Given the description of an element on the screen output the (x, y) to click on. 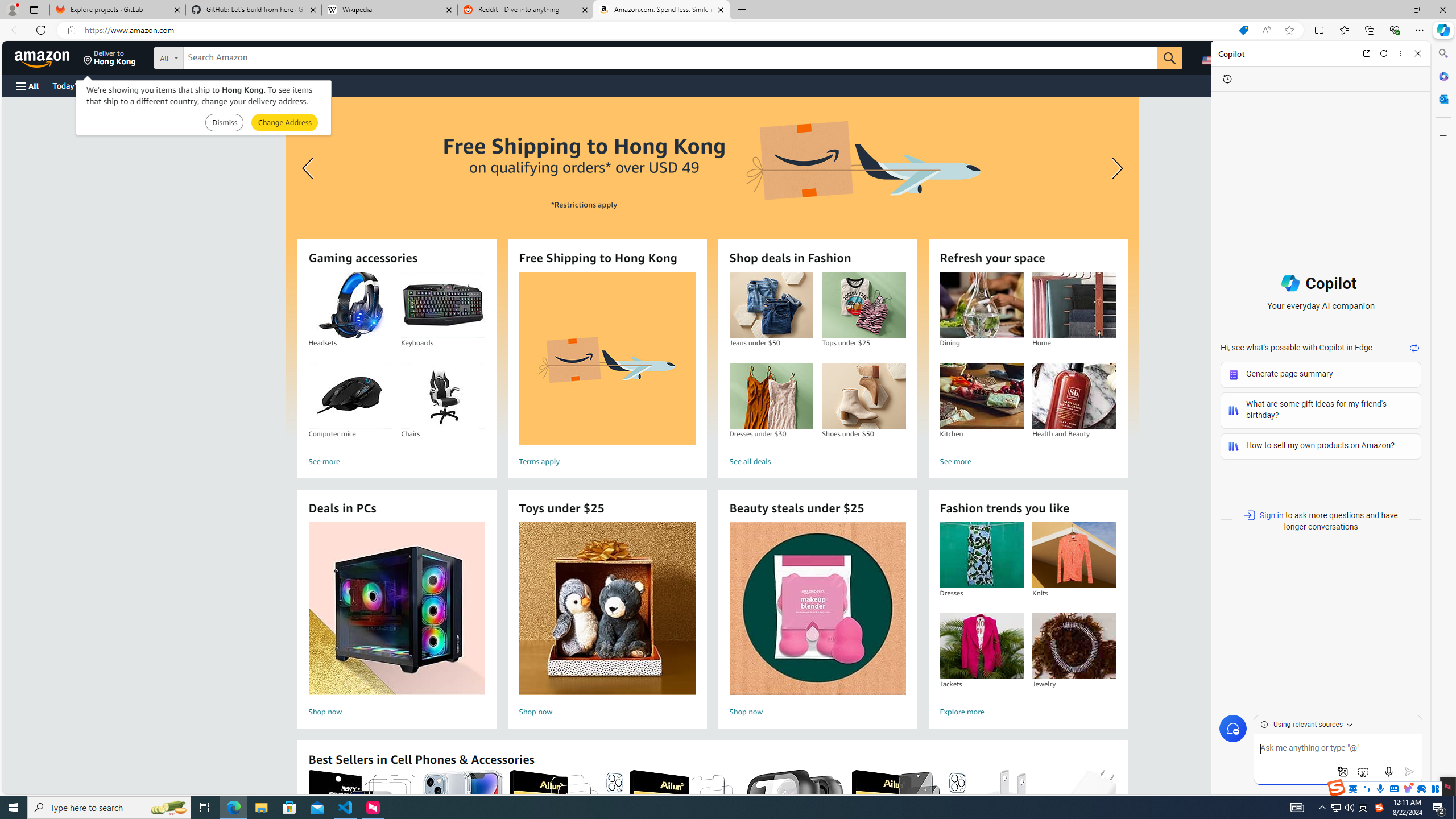
Knits (1074, 555)
Jeans under $50 (770, 304)
Shoes under $50 (863, 395)
Tops under $25 (863, 304)
Deals in PCs Shop now (396, 620)
Dresses under $30 (770, 395)
